Given the description of an element on the screen output the (x, y) to click on. 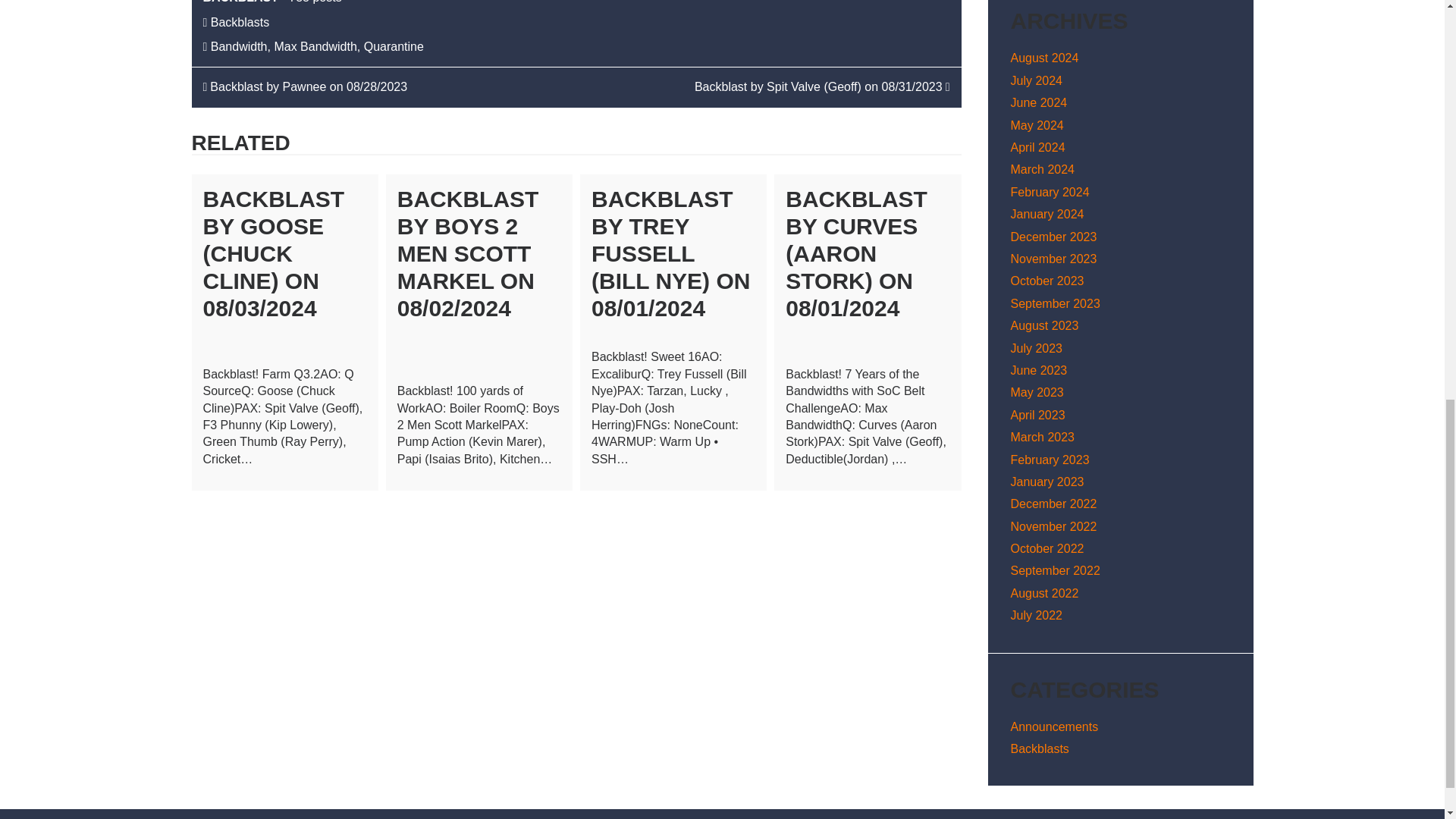
Quarantine (393, 46)
March 2024 (1042, 169)
August 2024 (1044, 57)
April 2024 (1037, 146)
Max Bandwidth (314, 46)
June 2024 (1038, 102)
Bandwidth (239, 46)
Backblasts (240, 21)
788 posts (314, 2)
May 2024 (1036, 124)
